Given the description of an element on the screen output the (x, y) to click on. 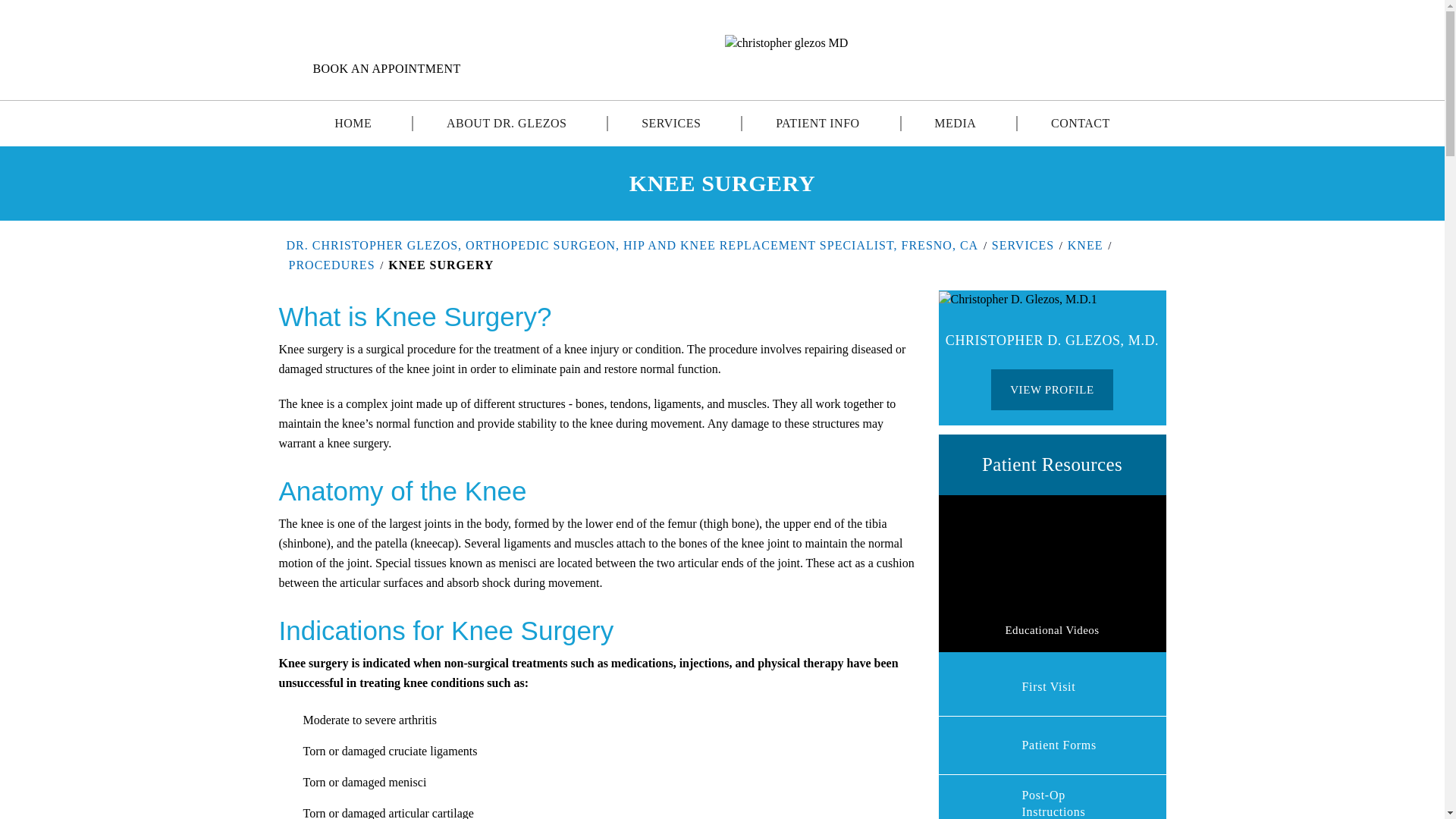
BOOK AN APPOINTMENT (375, 68)
SERVICES (671, 123)
ABOUT DR. GLEZOS (506, 123)
HOME (352, 123)
